Given the description of an element on the screen output the (x, y) to click on. 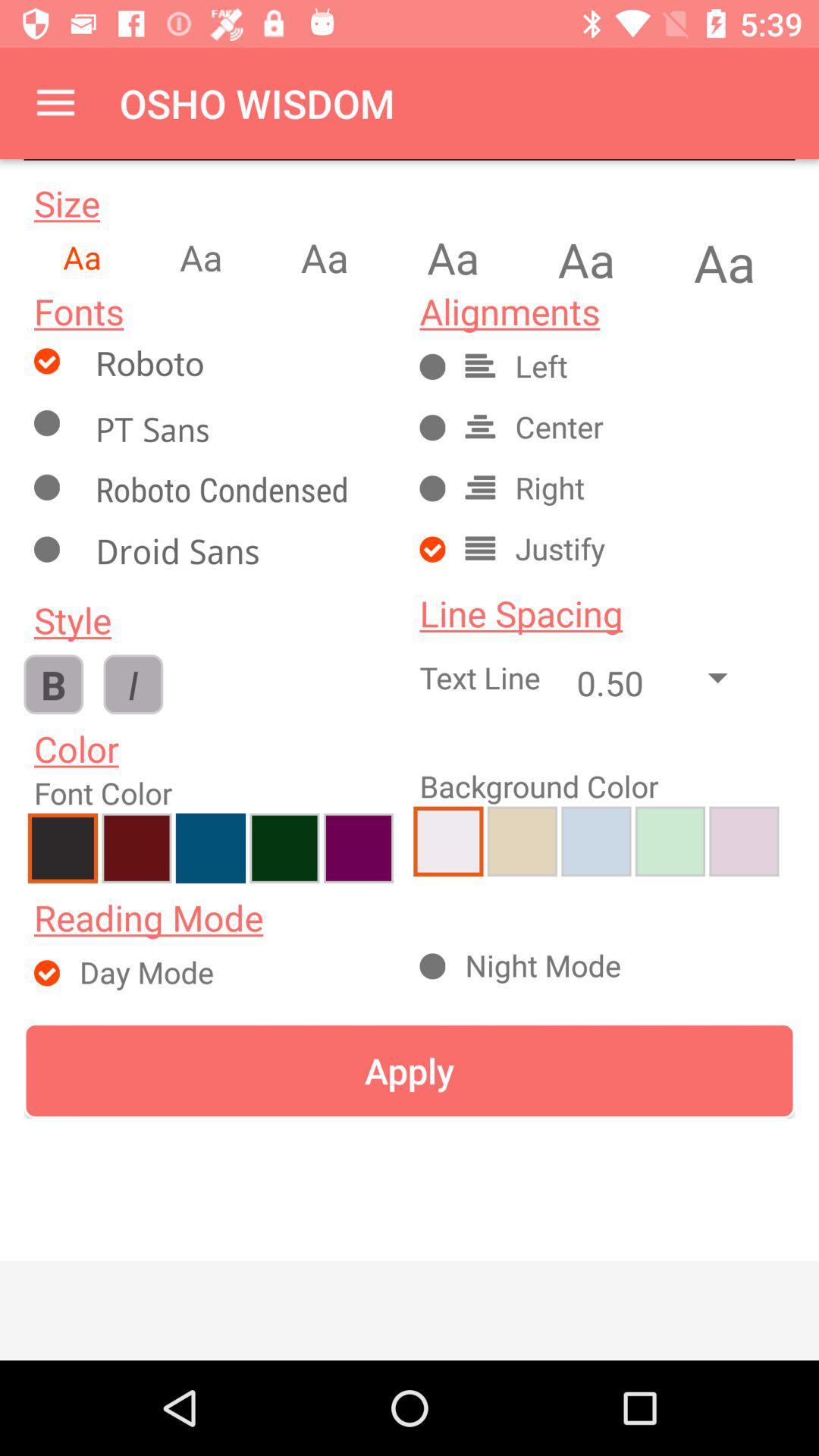
color selection (210, 848)
